Given the description of an element on the screen output the (x, y) to click on. 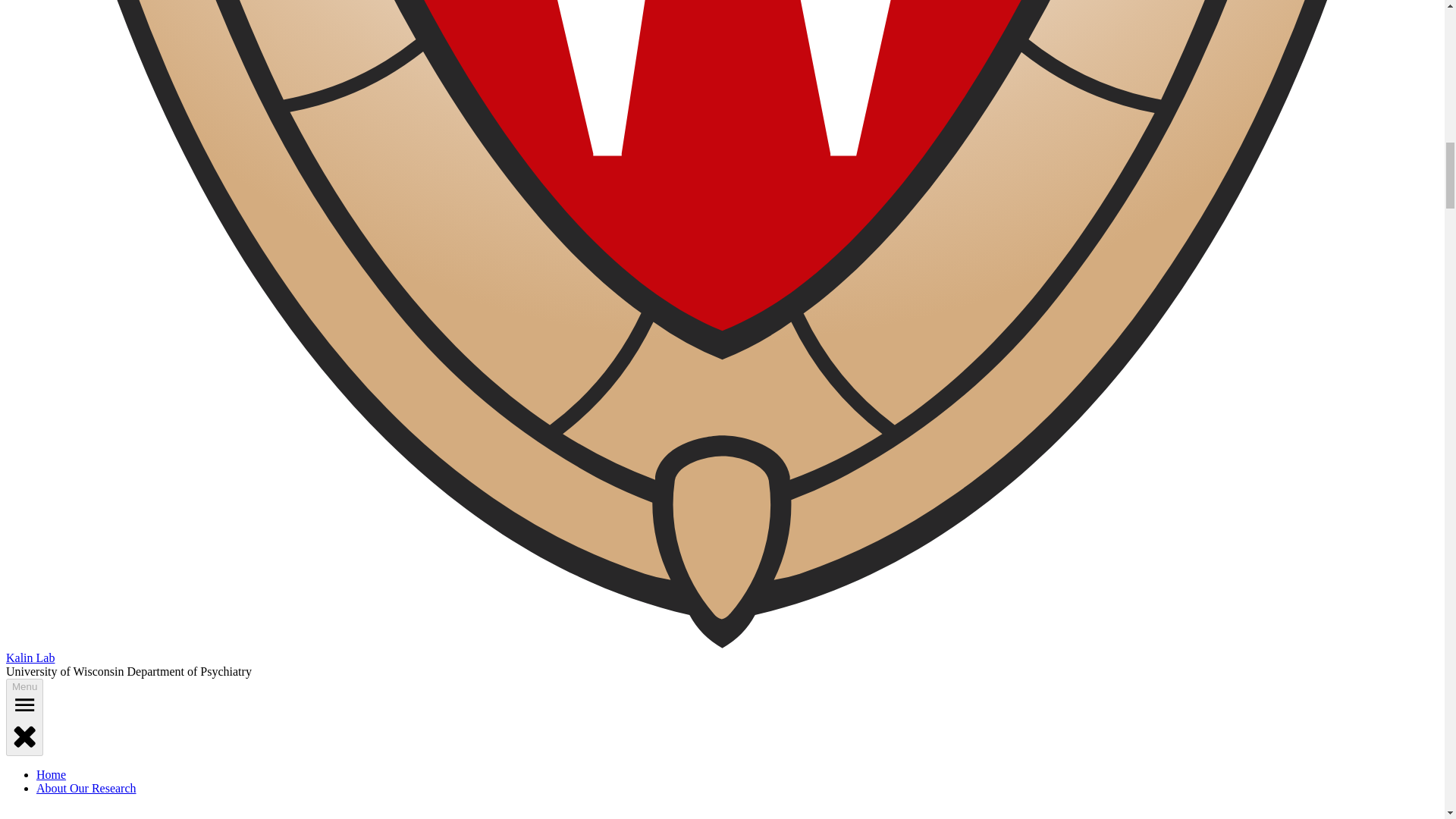
close (24, 735)
Menu open menu close (24, 717)
Home (50, 774)
open menu (24, 704)
Kalin Lab (30, 657)
